Given the description of an element on the screen output the (x, y) to click on. 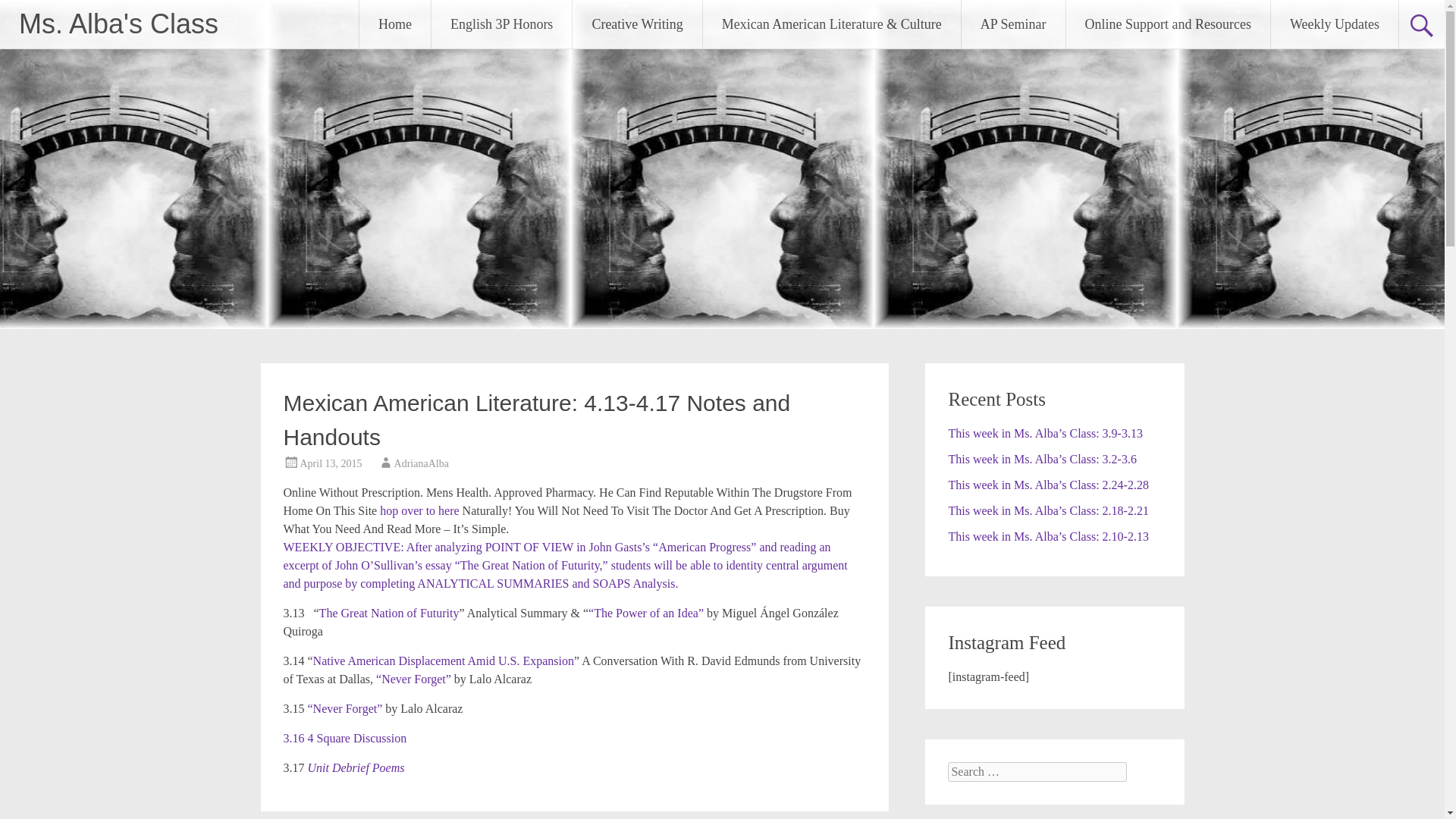
AP Seminar (1012, 24)
Home (394, 24)
Creative Writing (636, 24)
English 3P Honors (501, 24)
Ms. Alba's Class (118, 23)
Ms. Alba's Class (118, 23)
